Given the description of an element on the screen output the (x, y) to click on. 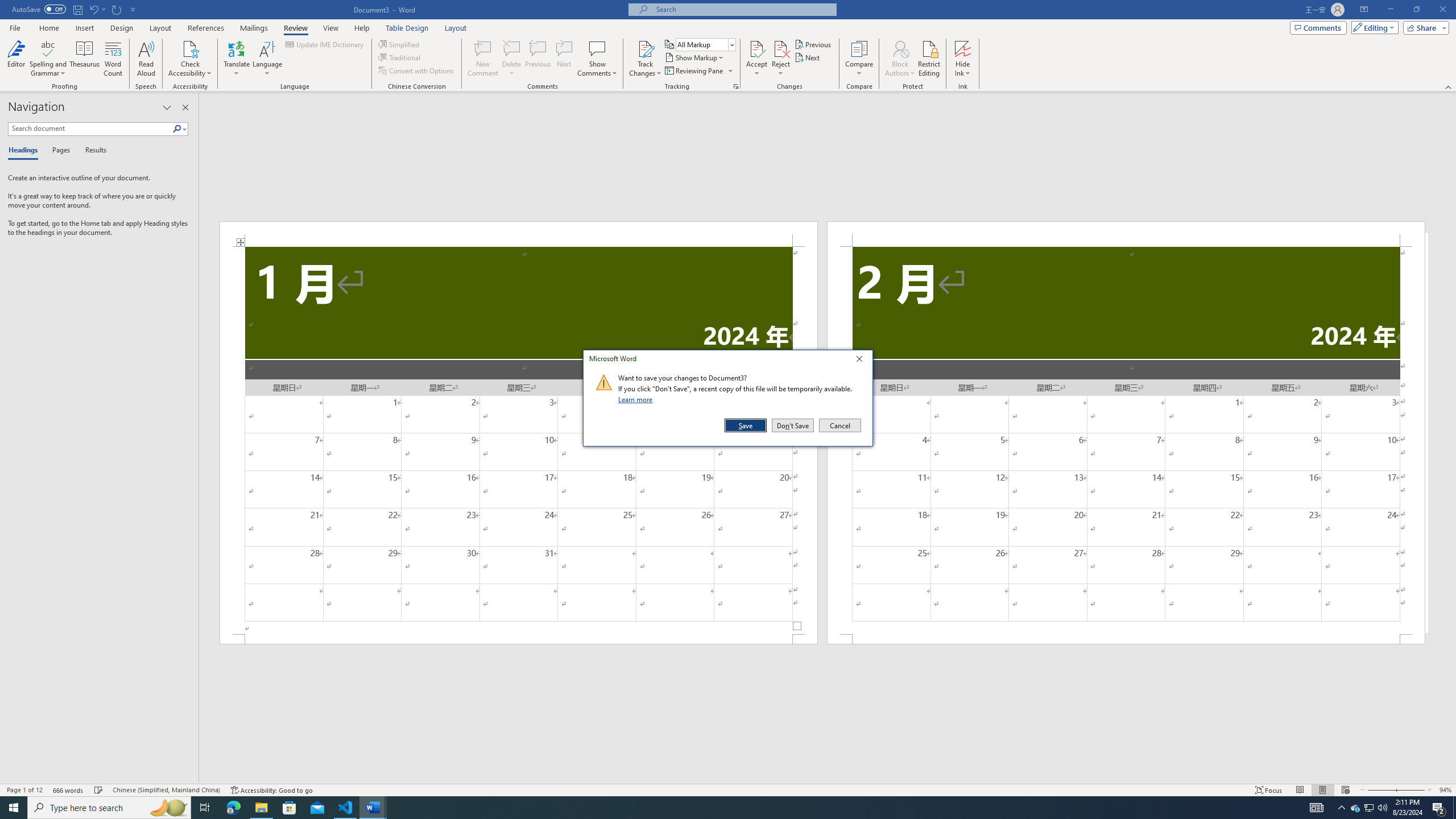
New Comment (482, 58)
Learn more (636, 399)
Read Aloud (145, 58)
Hide Ink (962, 58)
